Given the description of an element on the screen output the (x, y) to click on. 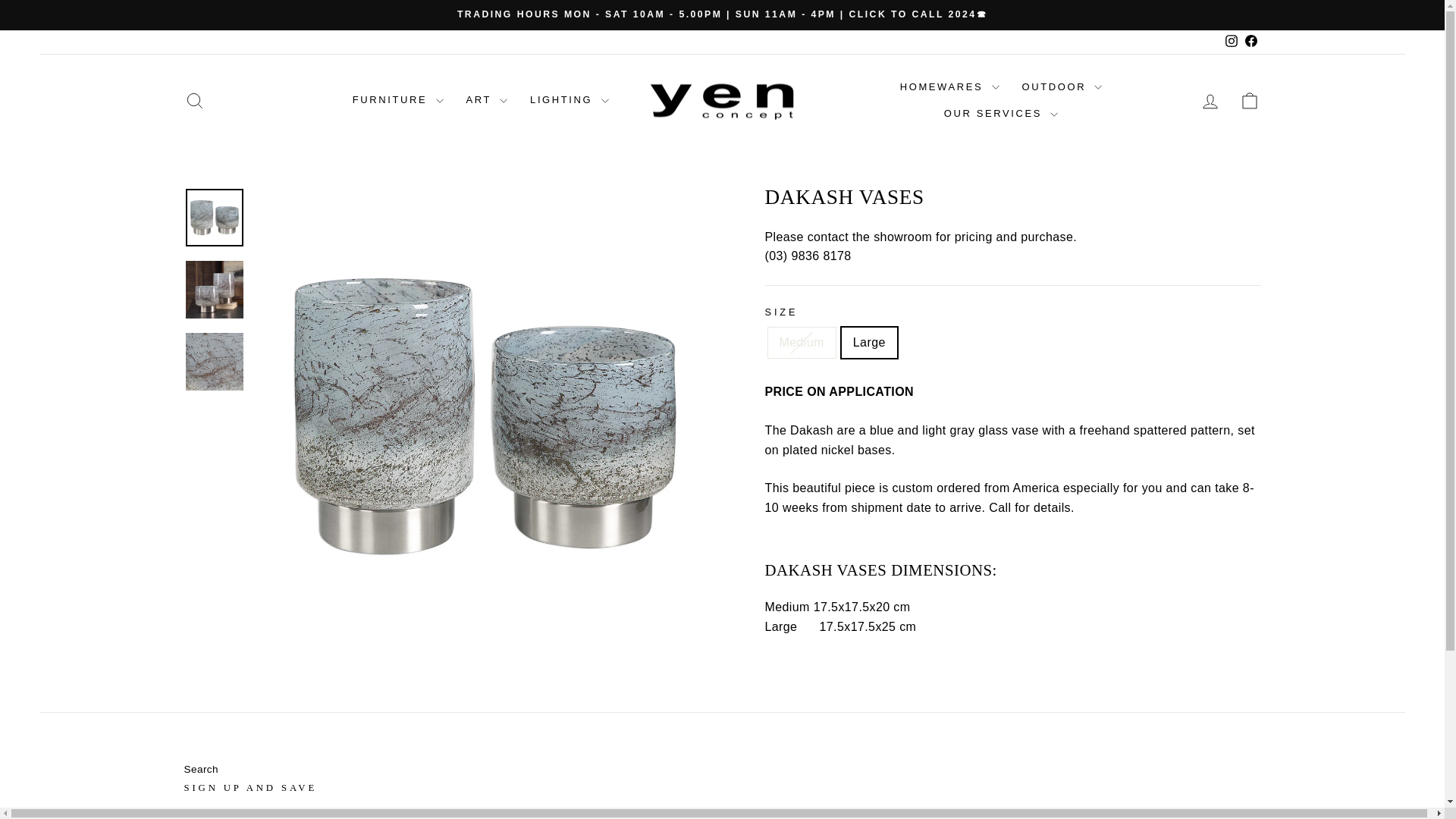
instagram (1231, 40)
ACCOUNT (1210, 101)
ICON-BAG-MINIMAL (1249, 100)
ICON-SEARCH (194, 100)
